Given the description of an element on the screen output the (x, y) to click on. 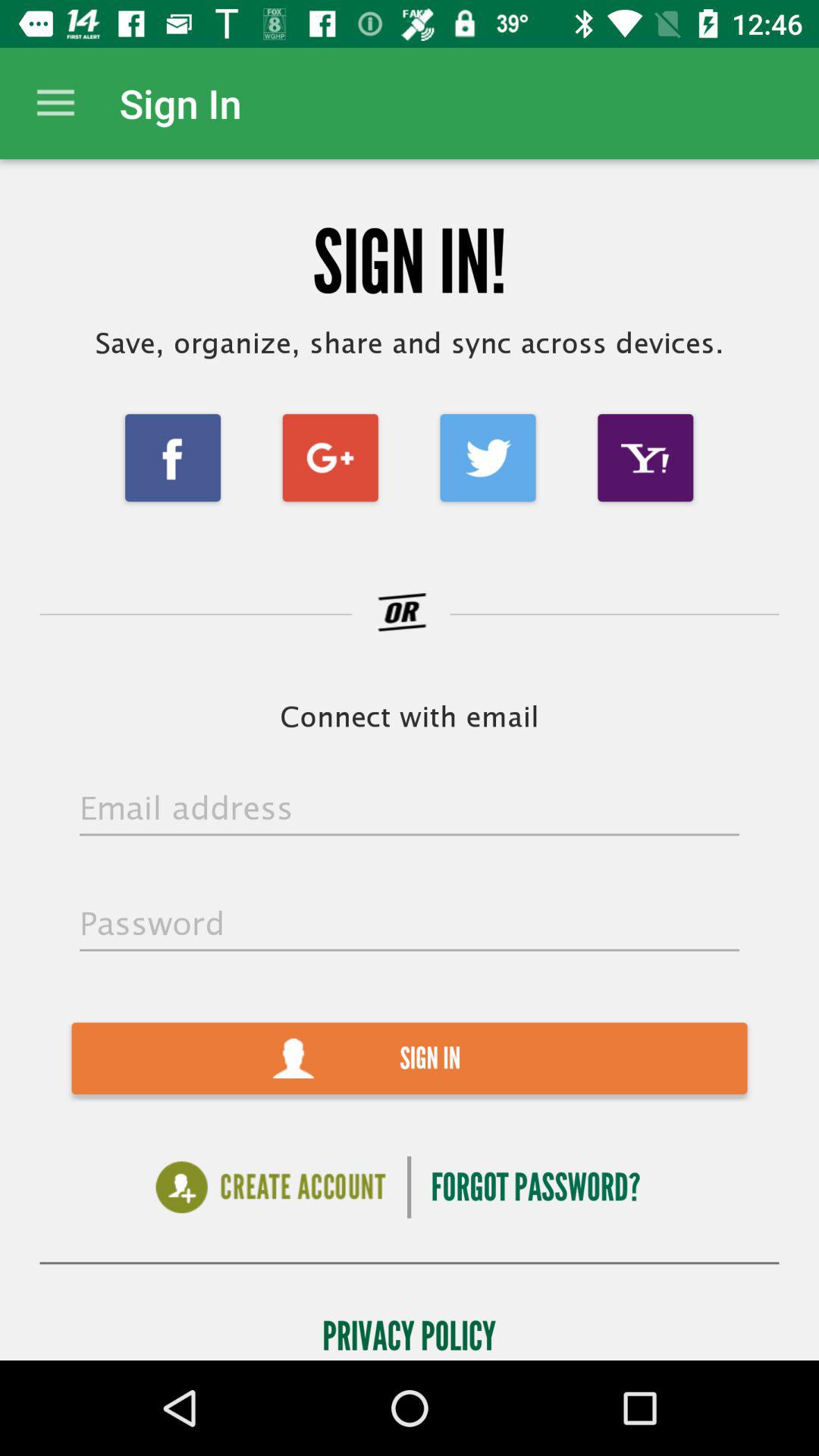
launch app to the left of sign in icon (55, 103)
